Given the description of an element on the screen output the (x, y) to click on. 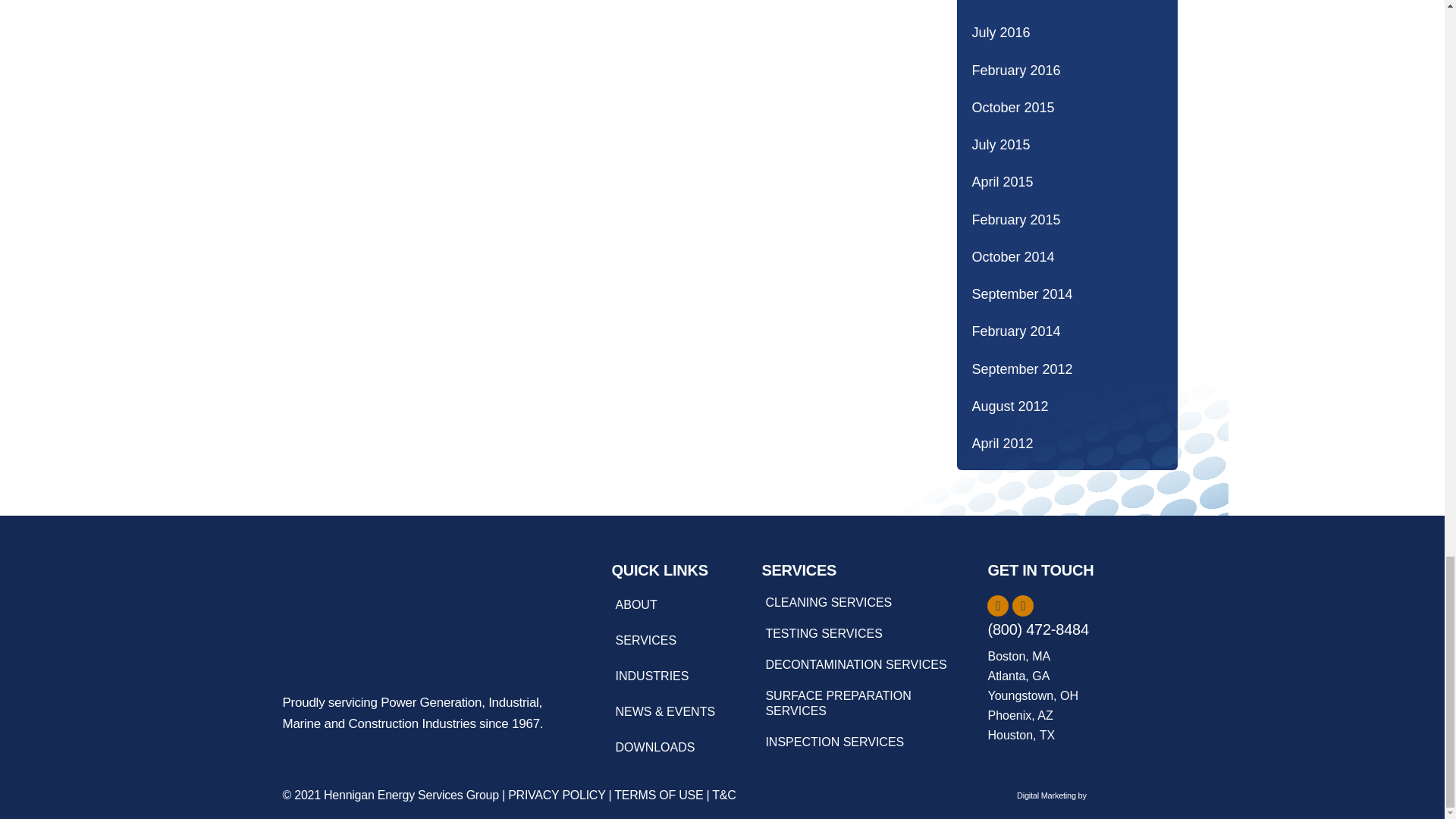
facebook (998, 605)
Linkedin (1022, 605)
